Given the description of an element on the screen output the (x, y) to click on. 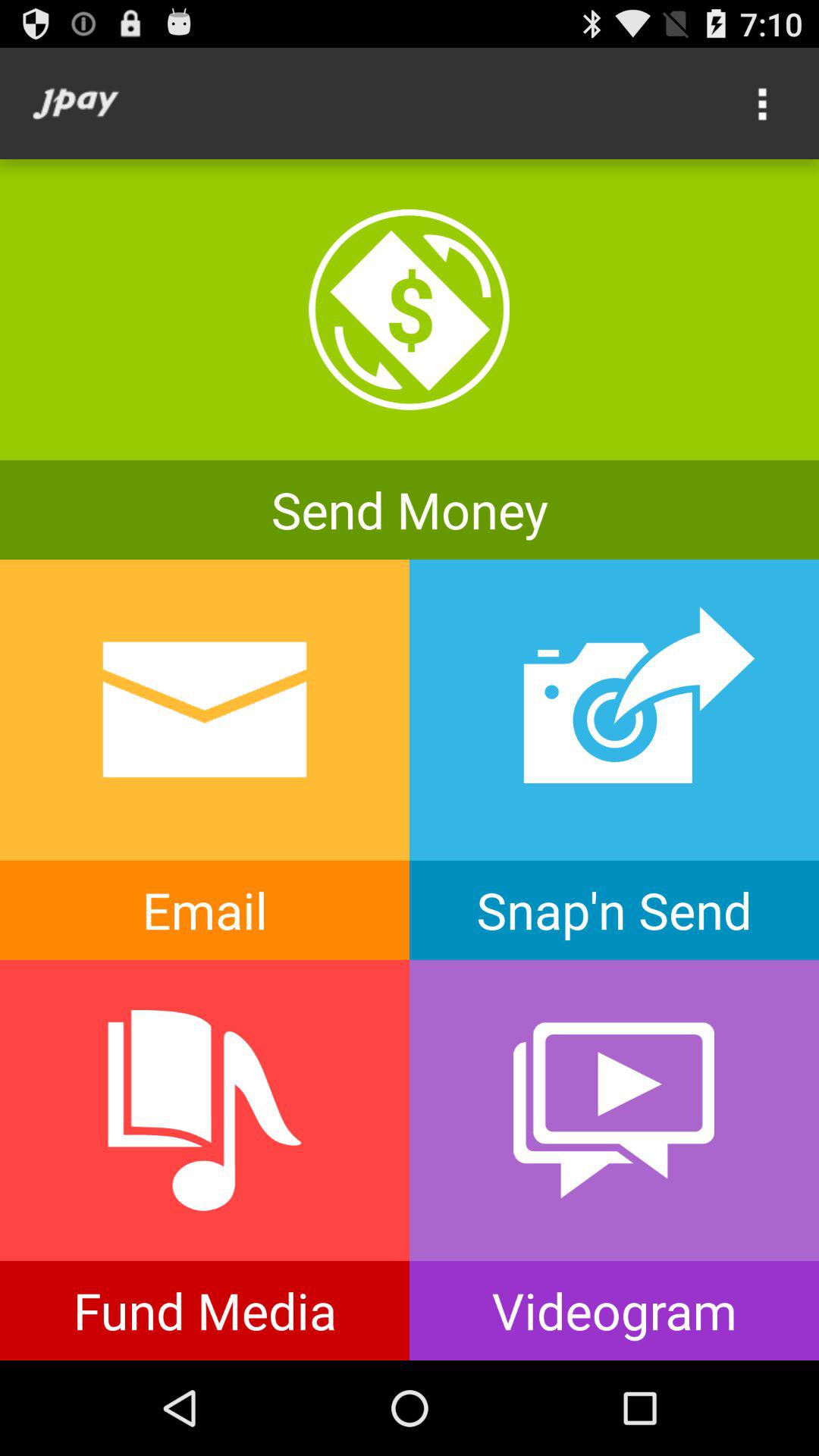
go to home page (75, 103)
